Given the description of an element on the screen output the (x, y) to click on. 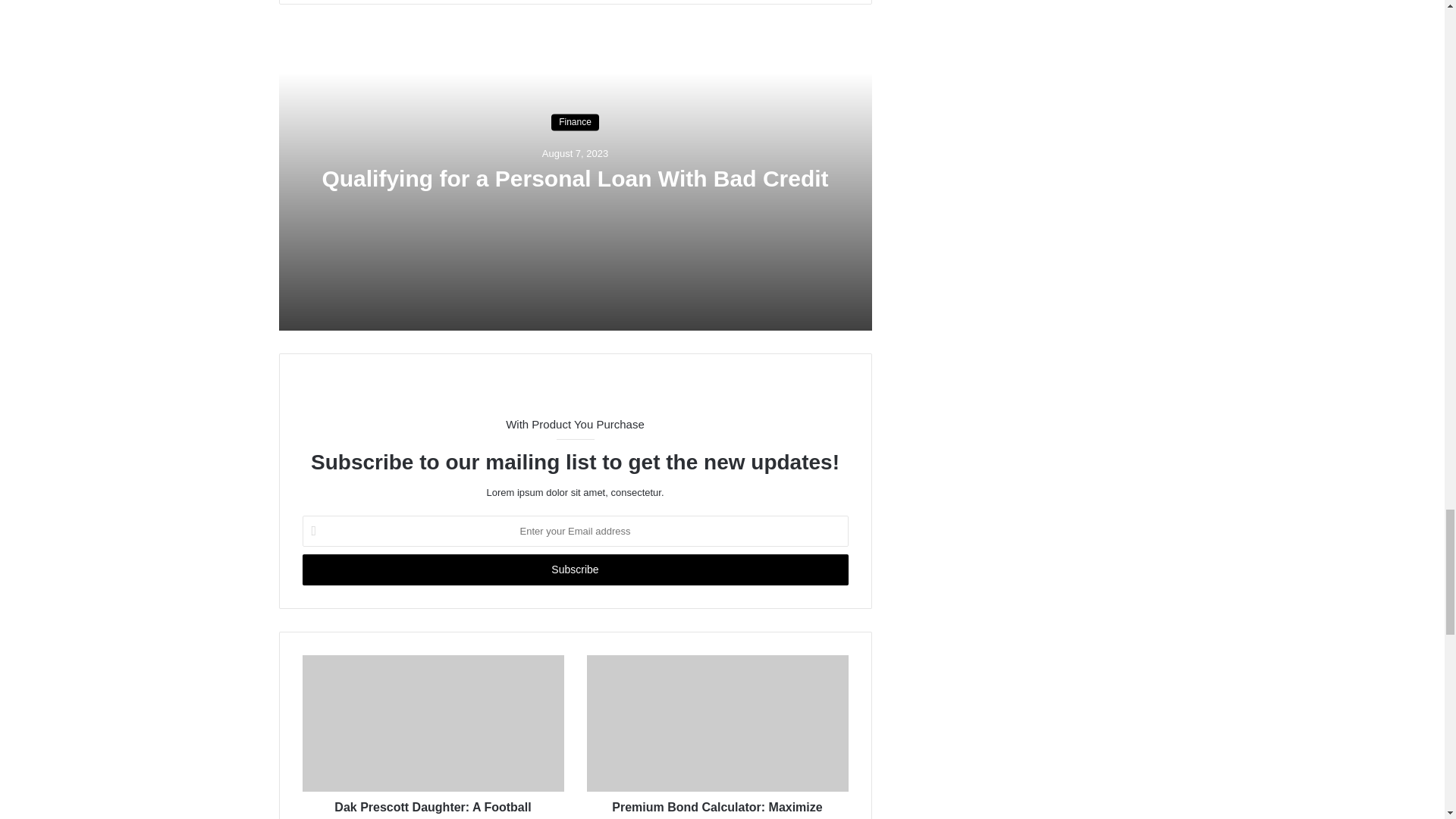
Subscribe (574, 569)
Finance (574, 122)
Qualifying for a Personal Loan With Bad Credit (574, 179)
